Given the description of an element on the screen output the (x, y) to click on. 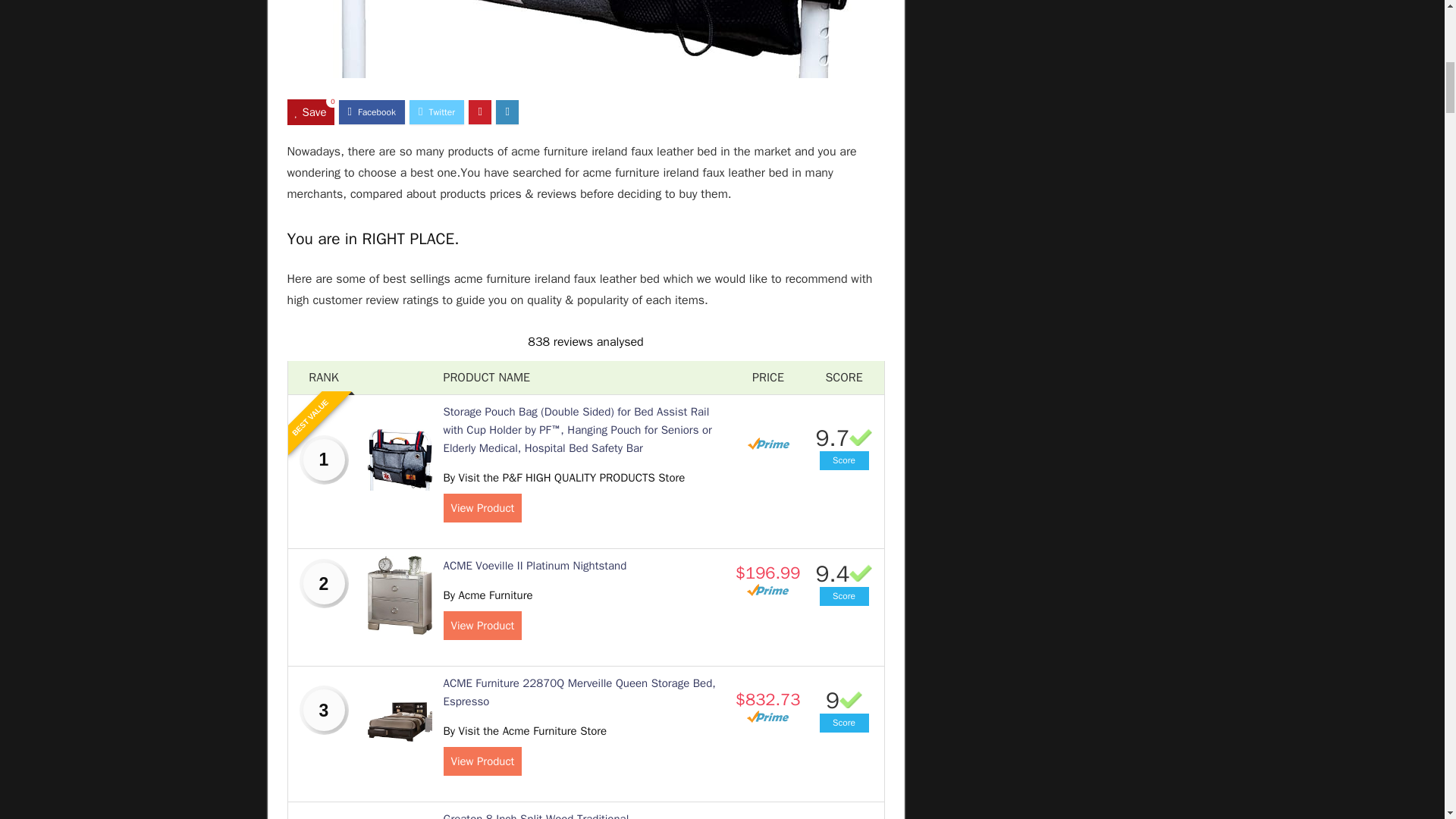
By Acme Furniture (487, 594)
ACME Voeville II Platinum Nightstand (534, 565)
View Product (481, 760)
View Product (481, 507)
View Product (481, 624)
By Visit the Acme Furniture Store (524, 730)
ACME Furniture 22870Q Merveille Queen Storage Bed, Espresso (578, 692)
